Given the description of an element on the screen output the (x, y) to click on. 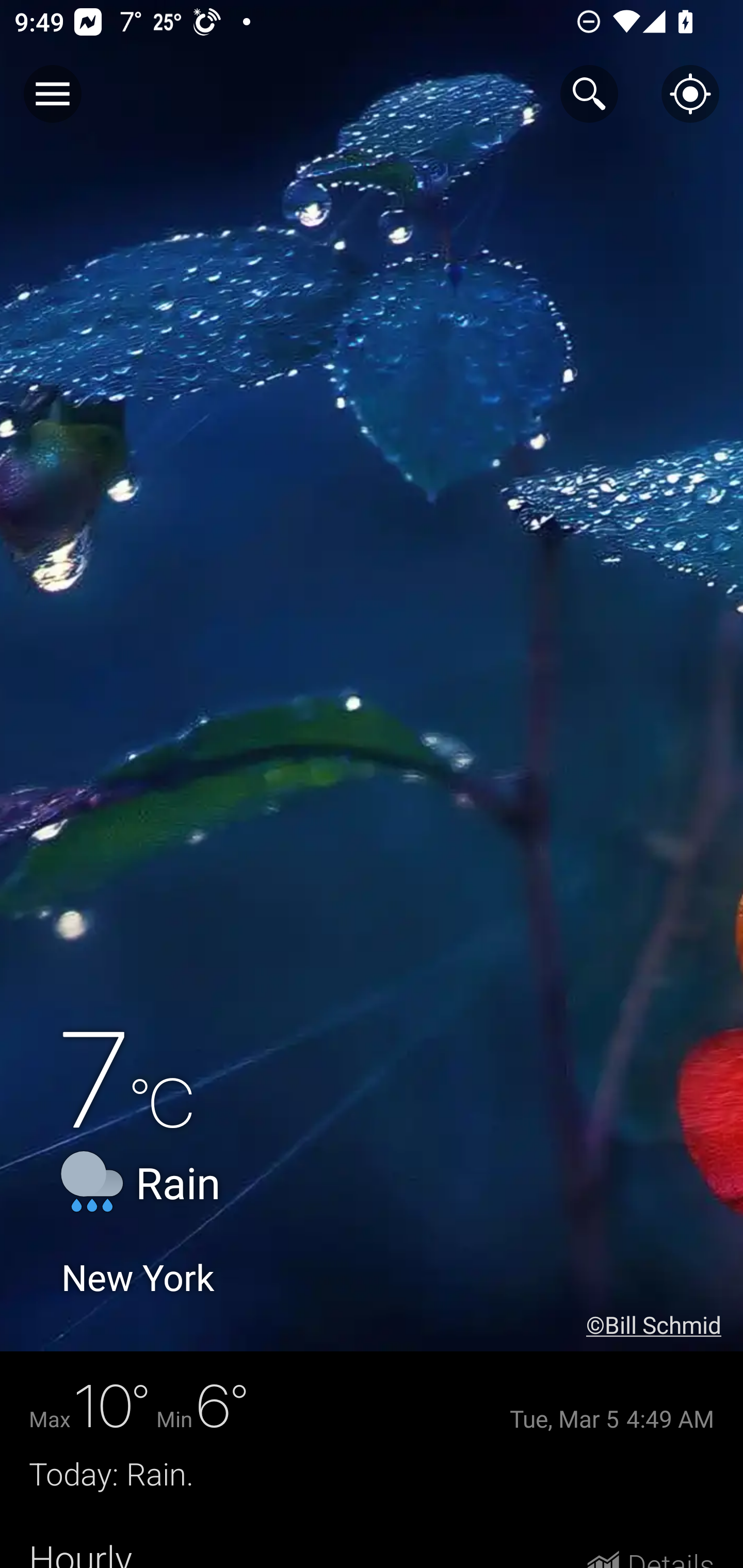
©Bill Schmid (664, 1324)
